Given the description of an element on the screen output the (x, y) to click on. 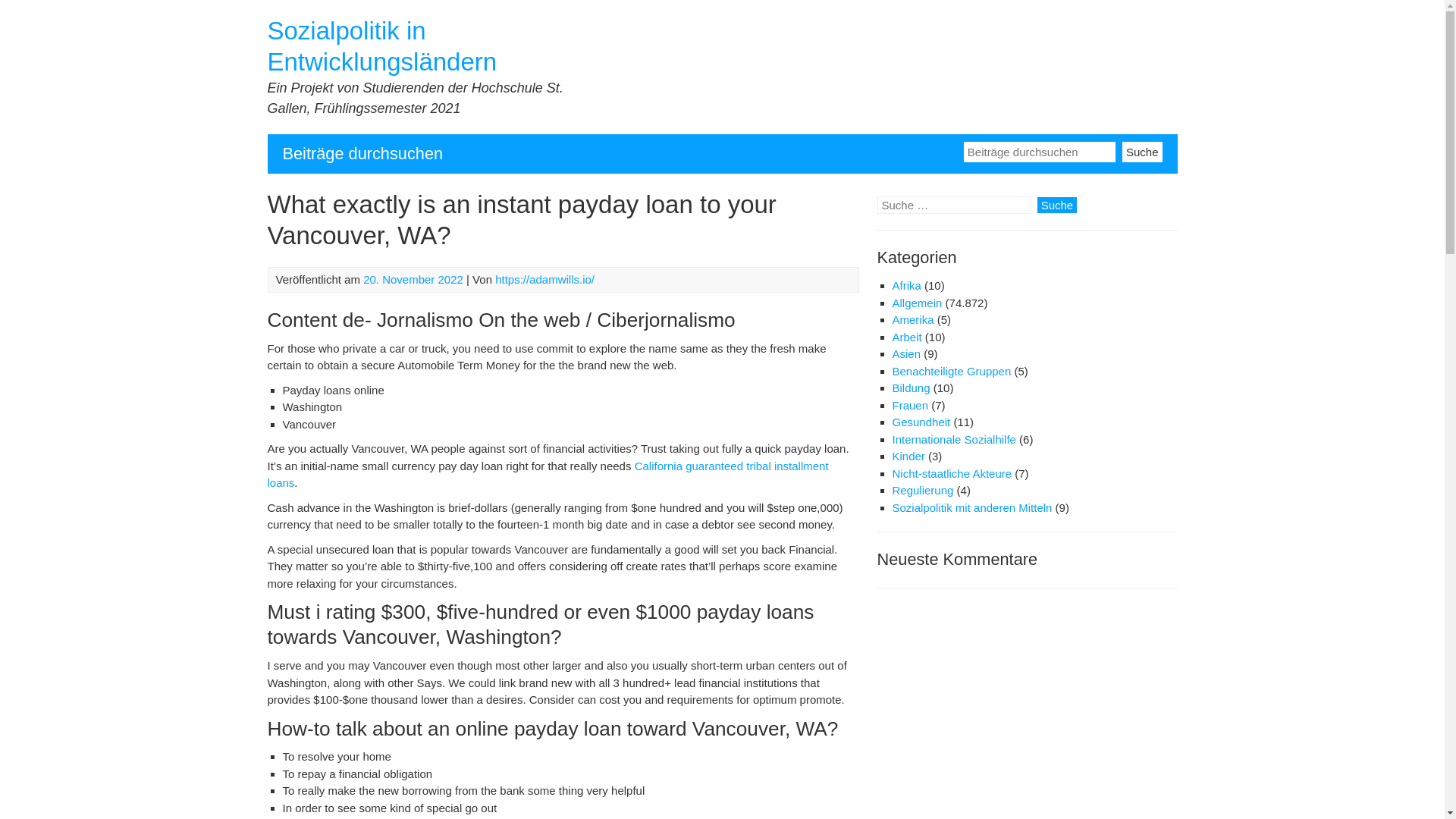
Suche (1056, 204)
Sozialpolitik mit anderen Mitteln (971, 507)
Suche (1141, 150)
Suche (1141, 150)
Bildung (910, 387)
Allgemein (916, 302)
Benachteiligte Gruppen (950, 370)
Gesundheit (920, 421)
Internationale Sozialhilfe (952, 439)
Arbeit (906, 336)
